Given the description of an element on the screen output the (x, y) to click on. 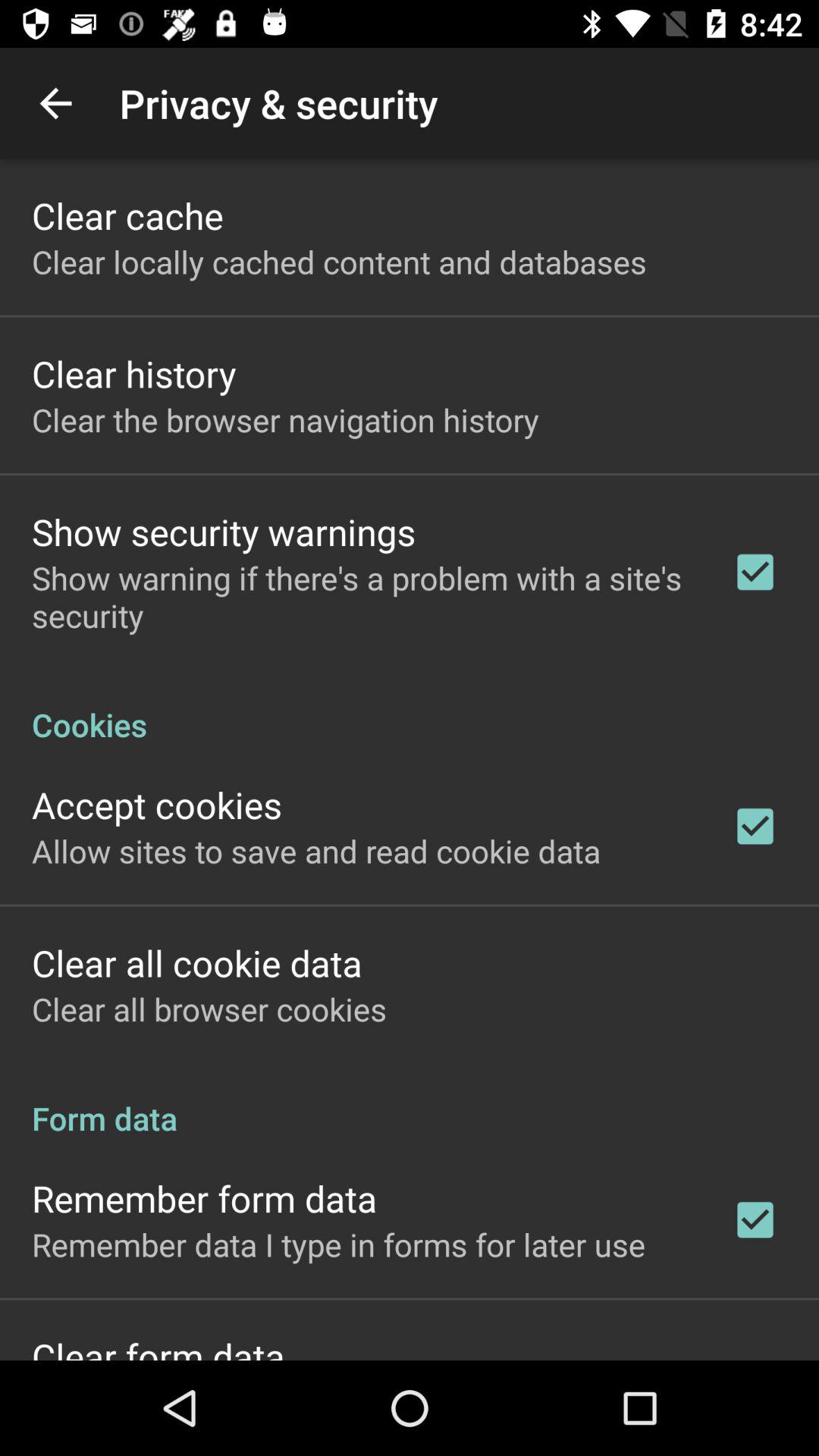
tap icon to the left of privacy & security item (55, 103)
